Given the description of an element on the screen output the (x, y) to click on. 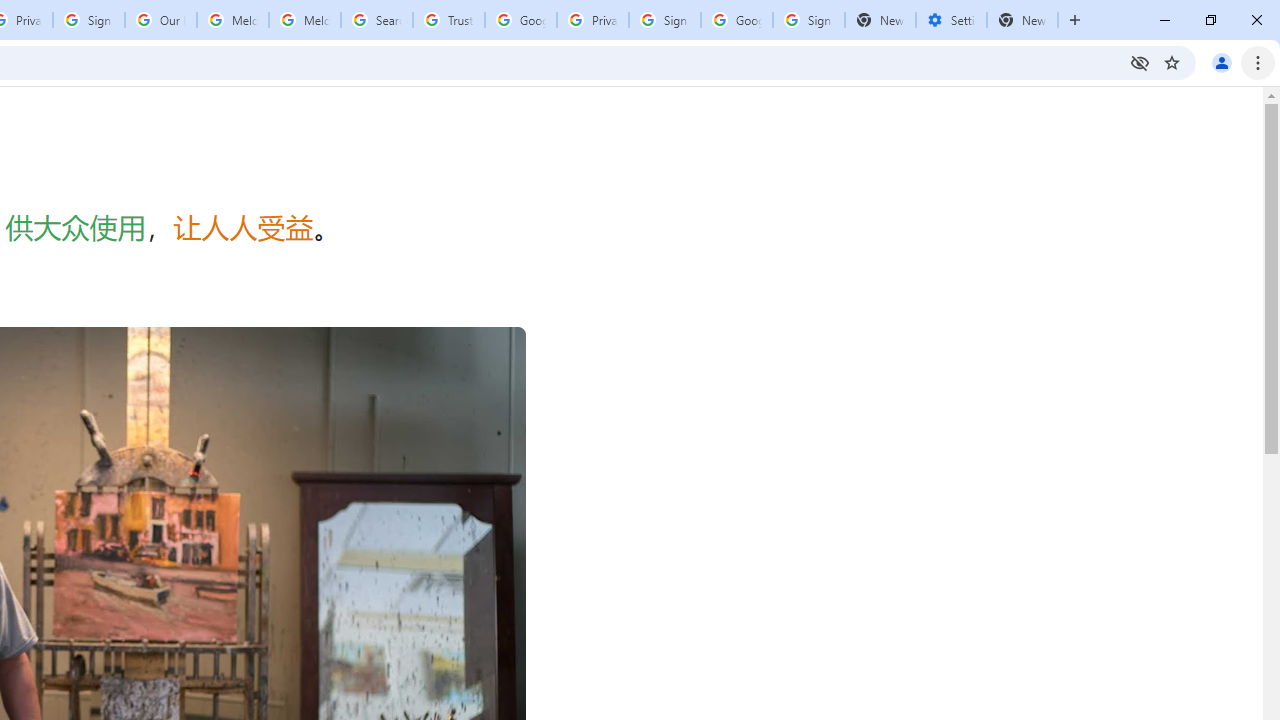
Sign in - Google Accounts (88, 20)
Sign in - Google Accounts (664, 20)
New Tab (1022, 20)
